Given the description of an element on the screen output the (x, y) to click on. 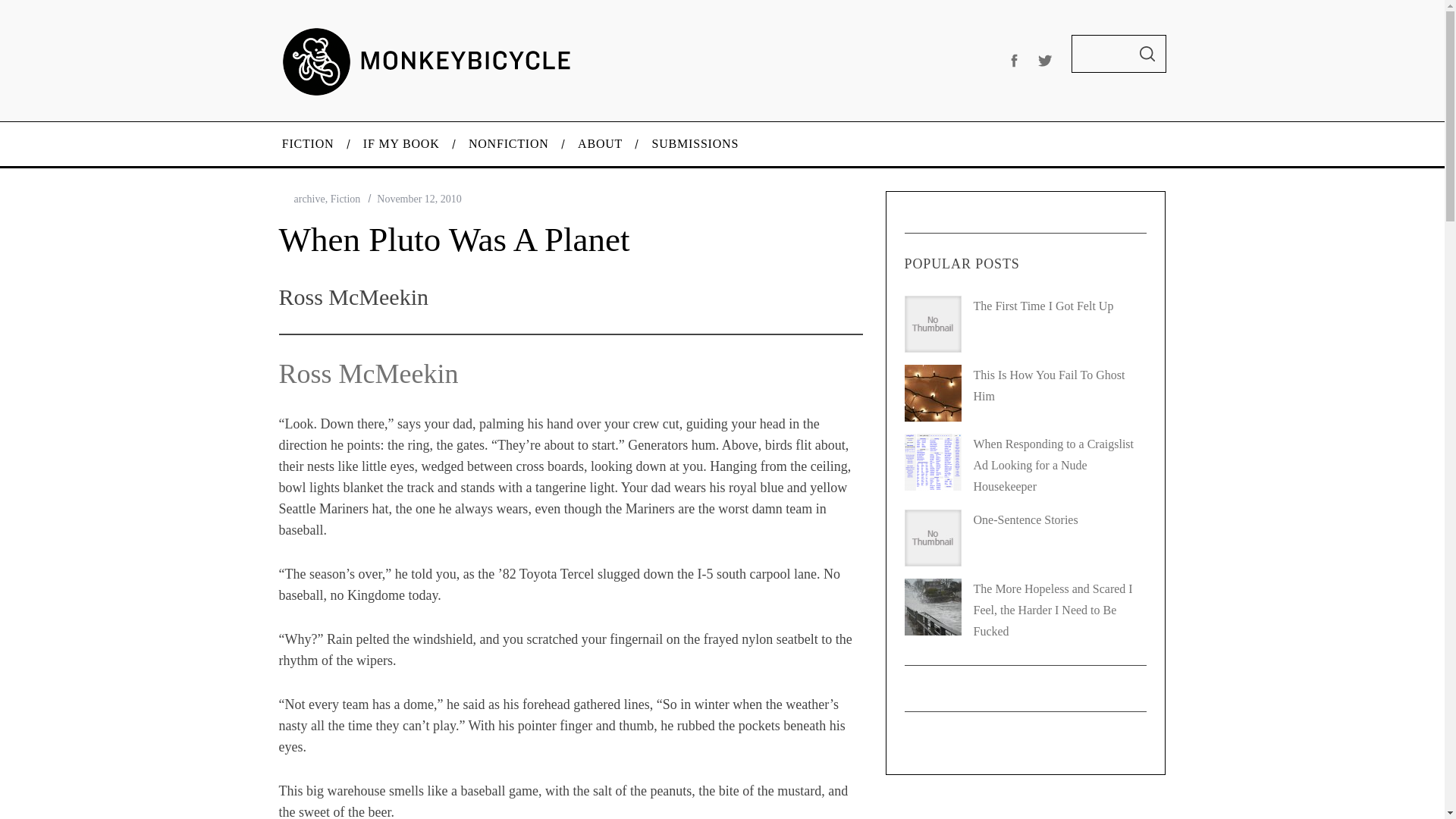
This Is How You Fail To Ghost Him (1049, 385)
IF MY BOOK (401, 144)
Fiction (345, 198)
archive (309, 198)
FICTION (306, 144)
NONFICTION (508, 144)
ABOUT (600, 144)
SEARCH (1147, 53)
SUBMISSIONS (694, 144)
The First Time I Got Felt Up (1043, 305)
